Given the description of an element on the screen output the (x, y) to click on. 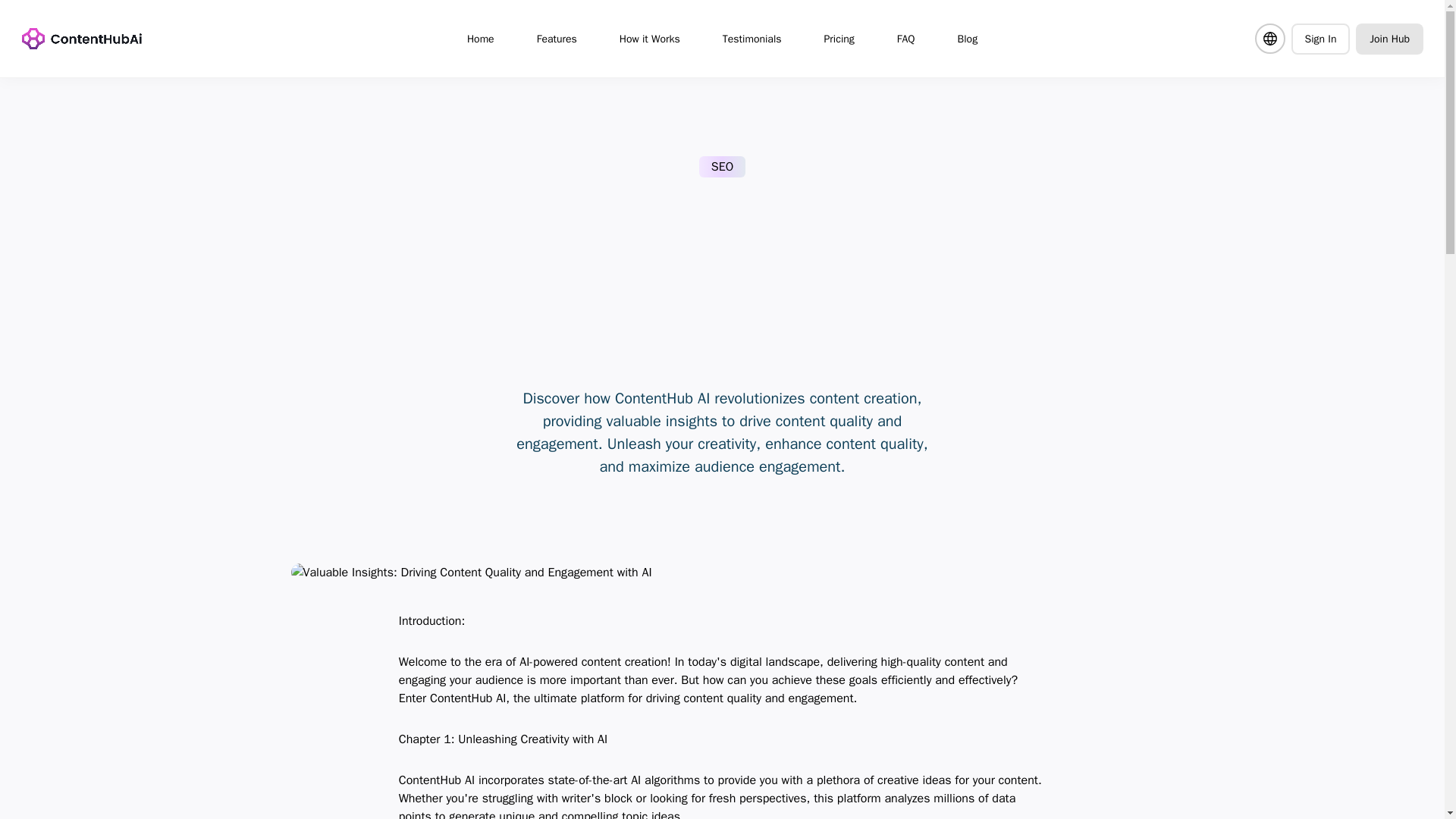
Blog (968, 38)
How it Works (649, 38)
FAQ (905, 38)
Home (481, 38)
Testimonials (751, 38)
SEO (721, 166)
Join Hub (1389, 38)
Features (556, 38)
Pricing (839, 38)
Sign In (1319, 38)
